Given the description of an element on the screen output the (x, y) to click on. 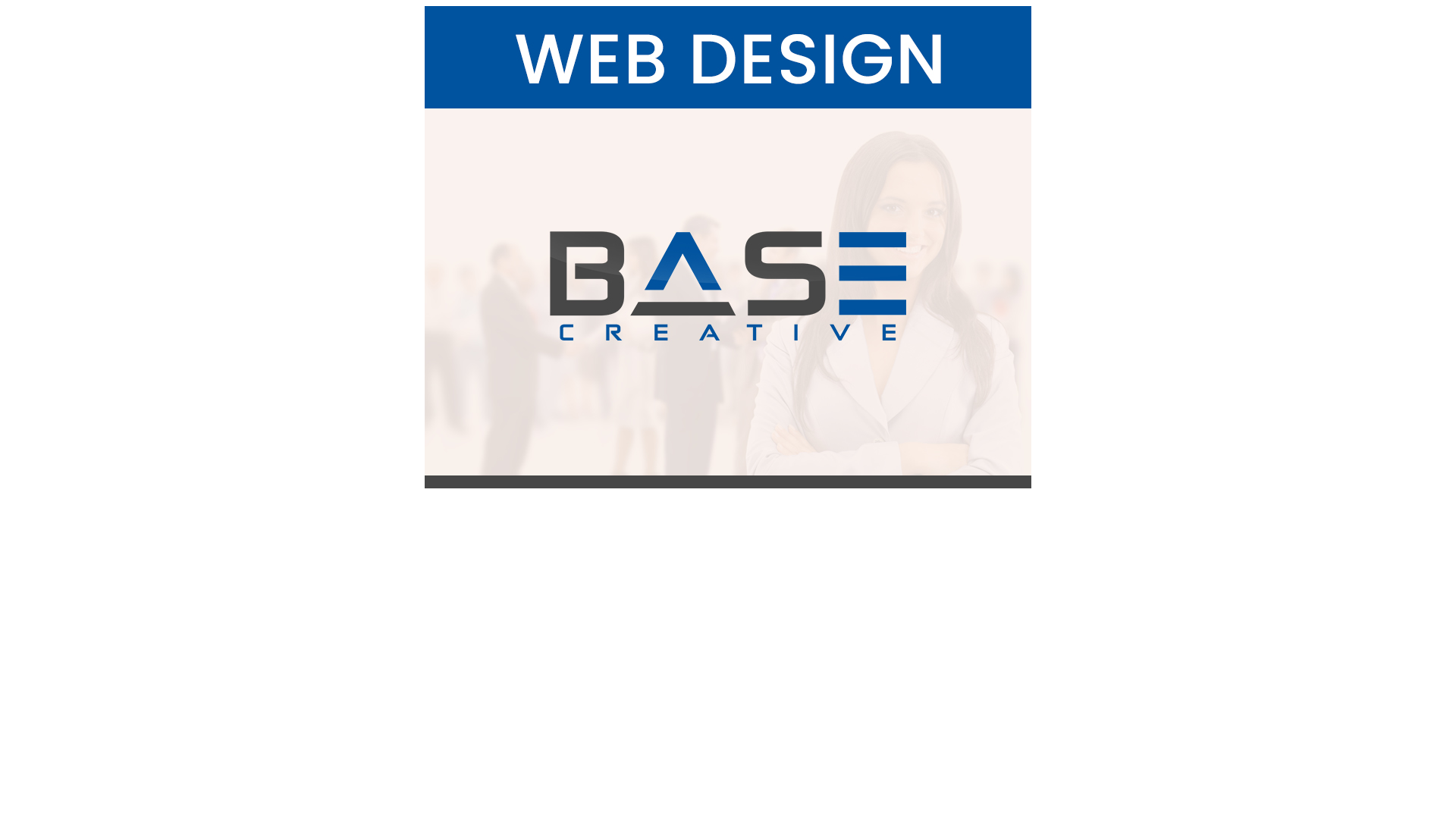
Web Design Element type: hover (727, 247)
